Given the description of an element on the screen output the (x, y) to click on. 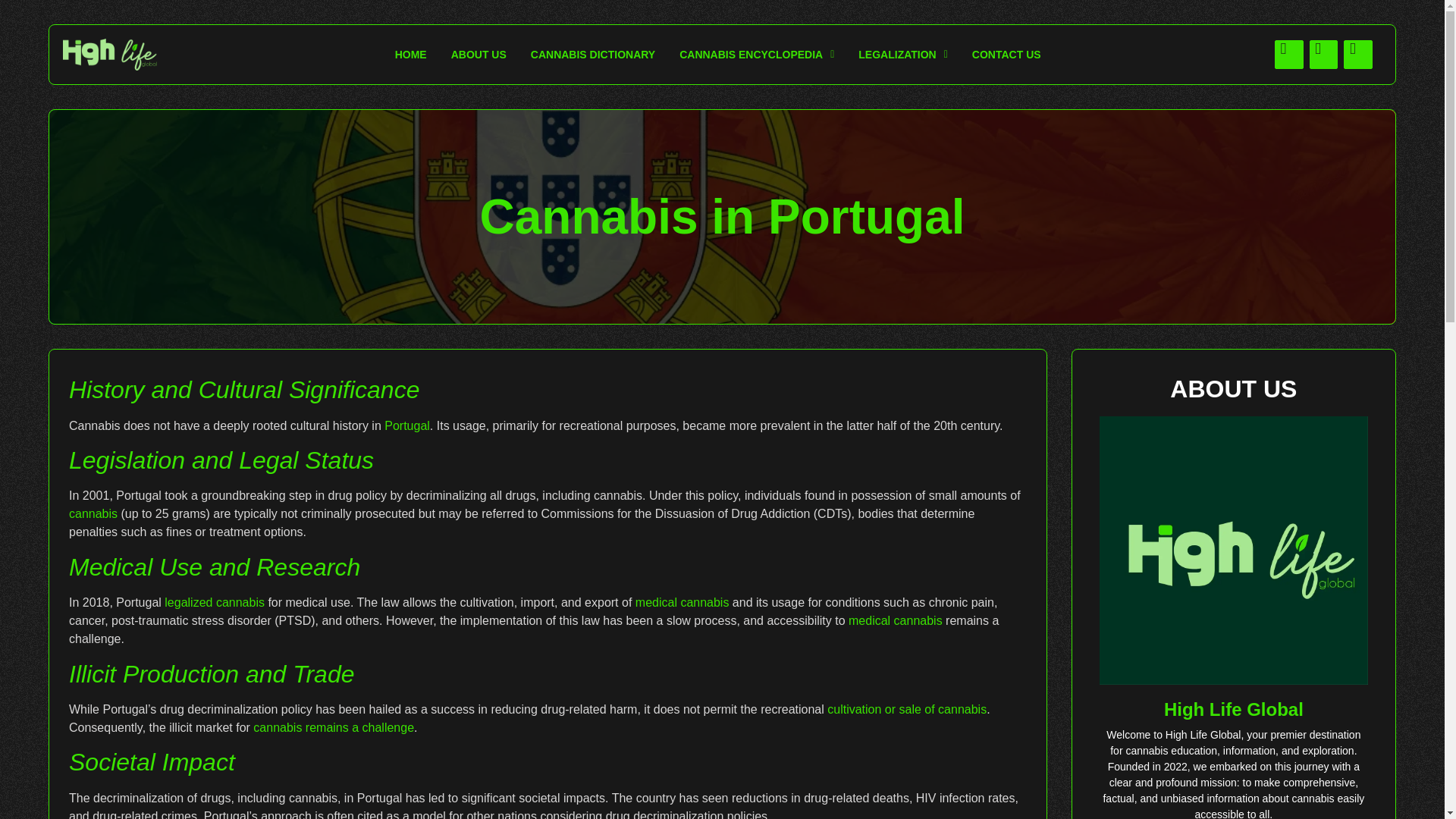
Portugal (406, 425)
ABOUT US (478, 54)
CANNABIS DICTIONARY (592, 54)
CANNABIS ENCYCLOPEDIA (755, 54)
LEGALIZATION (902, 54)
HOME (410, 54)
CONTACT US (1005, 54)
